Given the description of an element on the screen output the (x, y) to click on. 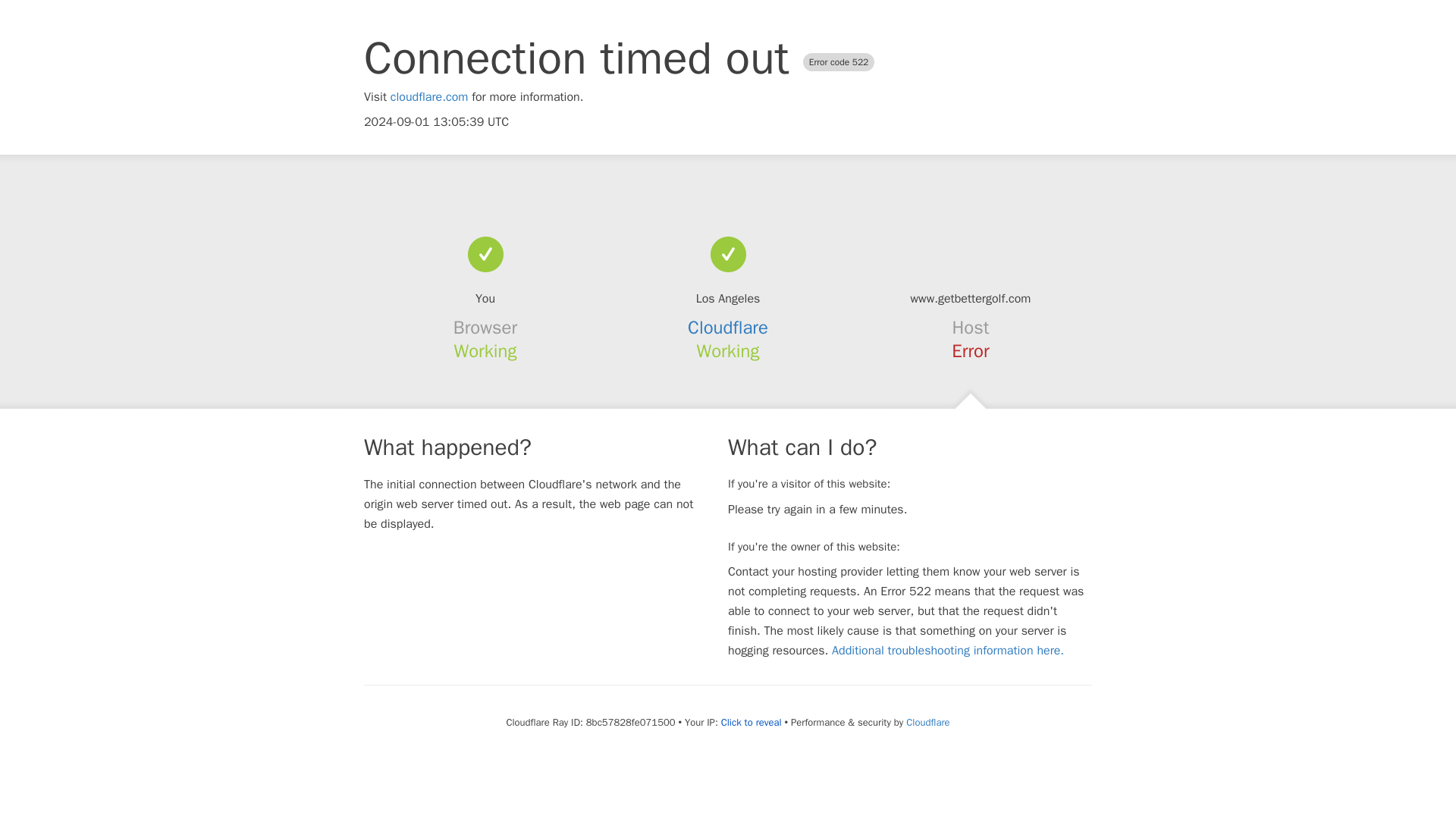
Cloudflare (927, 721)
cloudflare.com (429, 96)
Cloudflare (727, 327)
Click to reveal (750, 722)
Additional troubleshooting information here. (947, 650)
